Given the description of an element on the screen output the (x, y) to click on. 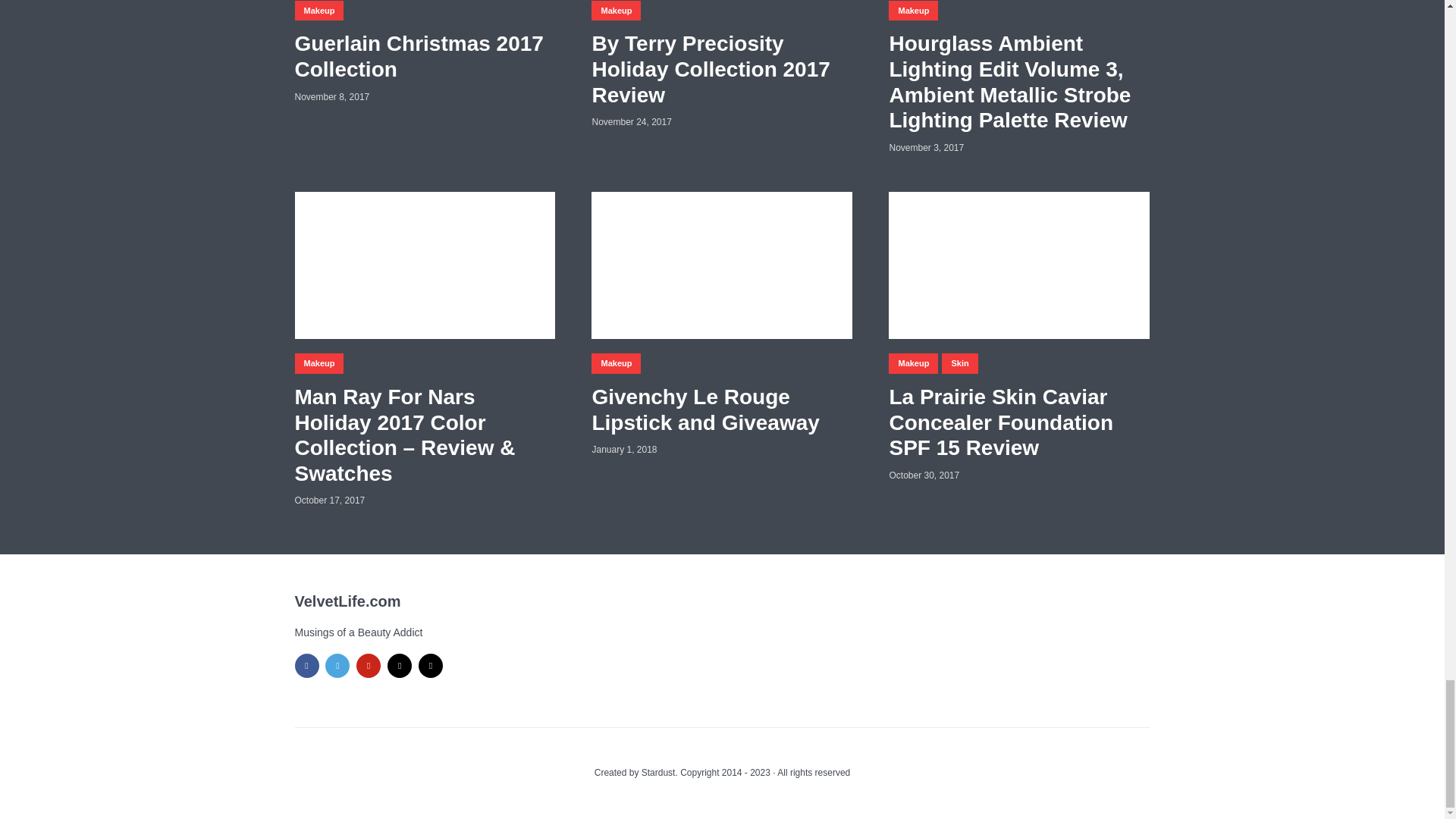
Instagram (430, 665)
Pinterest (368, 665)
Facebook (306, 665)
BLOGLOVIN' (399, 665)
